Given the description of an element on the screen output the (x, y) to click on. 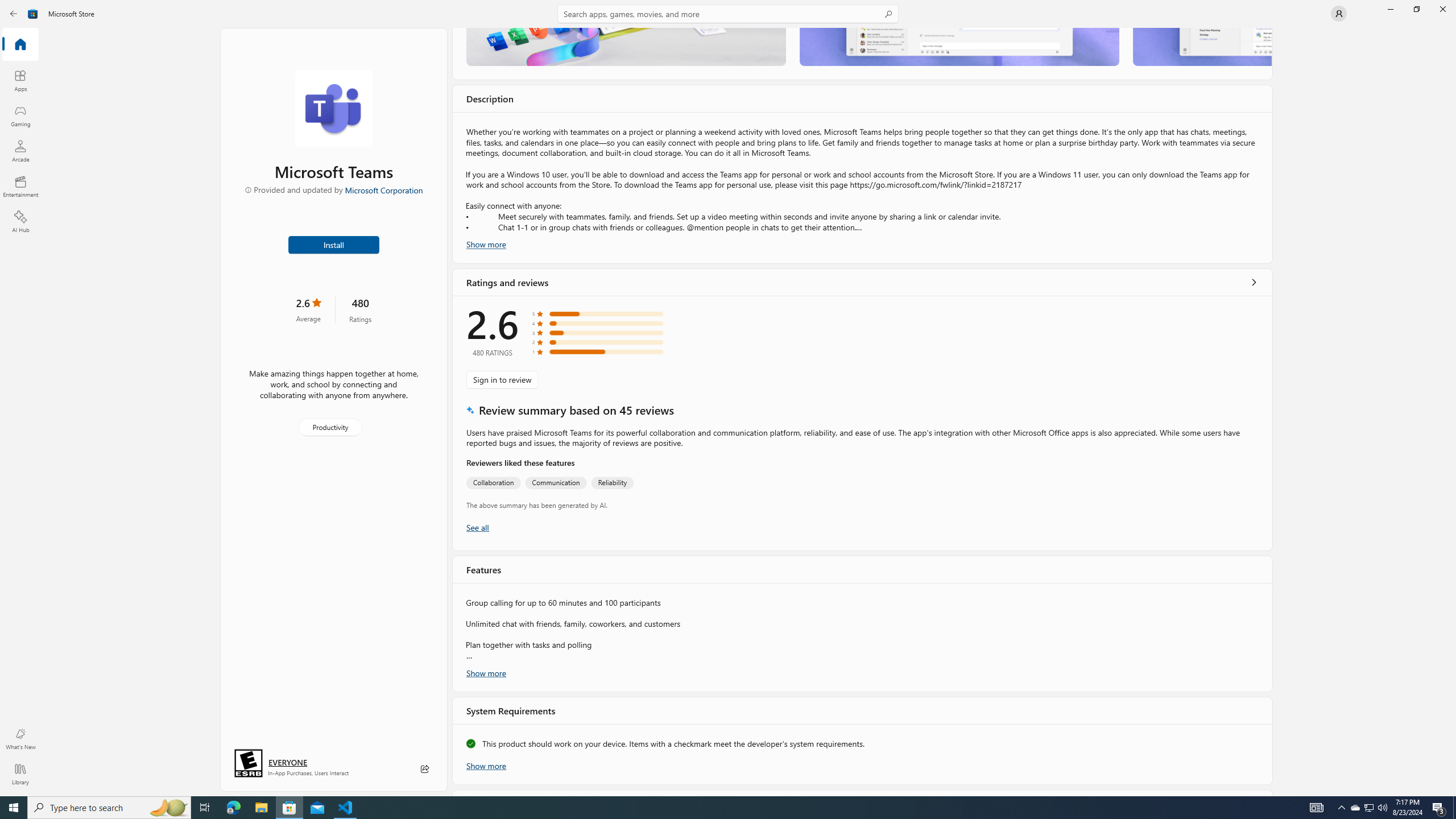
Entertainment (20, 185)
Productivity (329, 426)
What's New (20, 738)
Arcade (20, 150)
Home (20, 45)
2.6 stars. Click to skip to ratings and reviews (307, 309)
Sign in to review (501, 379)
Library (20, 773)
Show all ratings and reviews (1253, 281)
Install (334, 244)
Minimize Microsoft Store (1390, 9)
Class: Image (32, 13)
Close Microsoft Store (1442, 9)
Apps (20, 80)
